Given the description of an element on the screen output the (x, y) to click on. 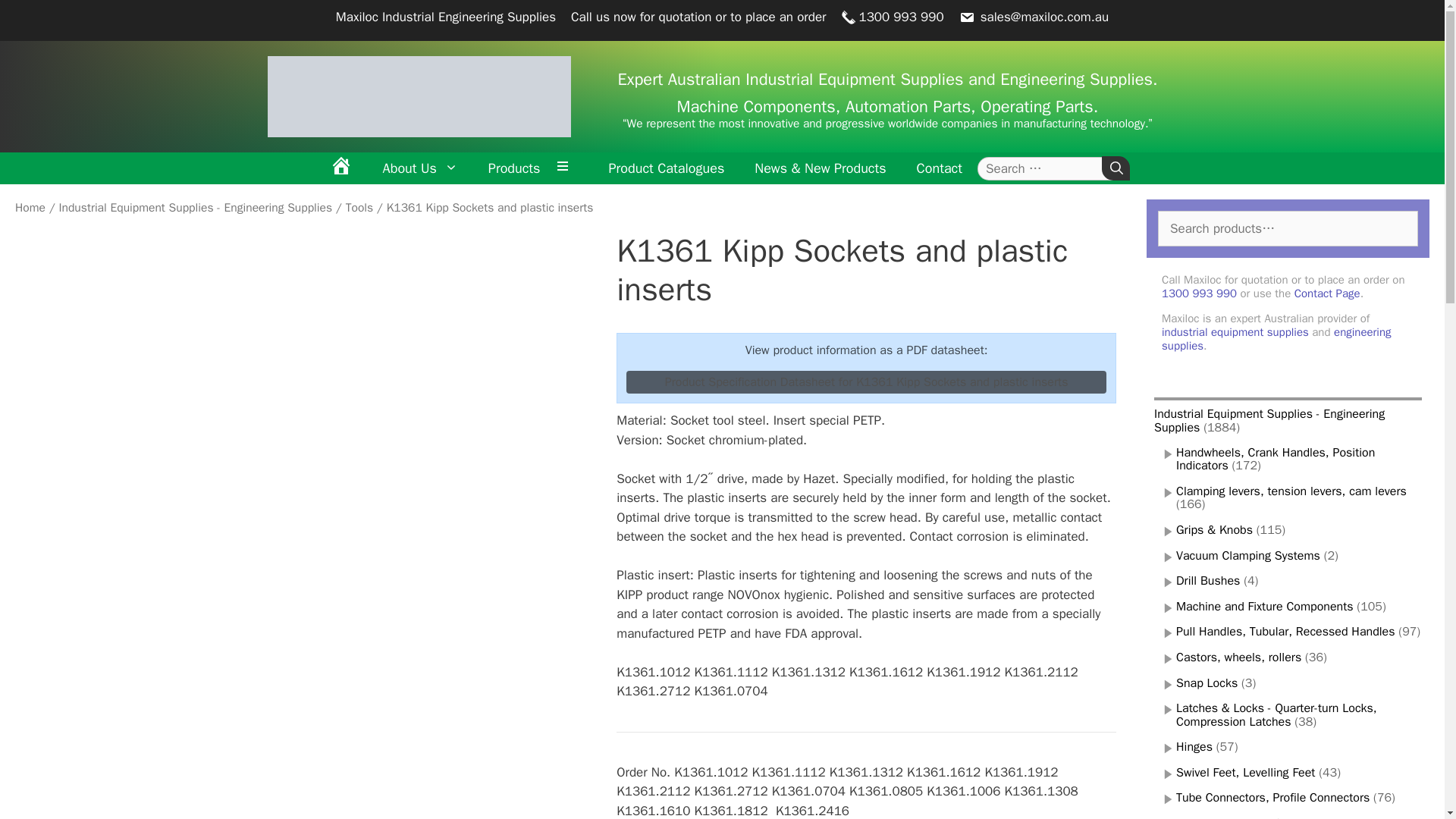
Product List (566, 168)
1300 993 990 (892, 17)
Datasheet K1361 Kipp Sockets and plastic inserts (866, 382)
Products (514, 167)
About Us (420, 167)
Call Maxiloc on 1300 993 990 (892, 17)
Search for: (1044, 168)
Products (514, 167)
Product List (566, 168)
Home (341, 168)
